Given the description of an element on the screen output the (x, y) to click on. 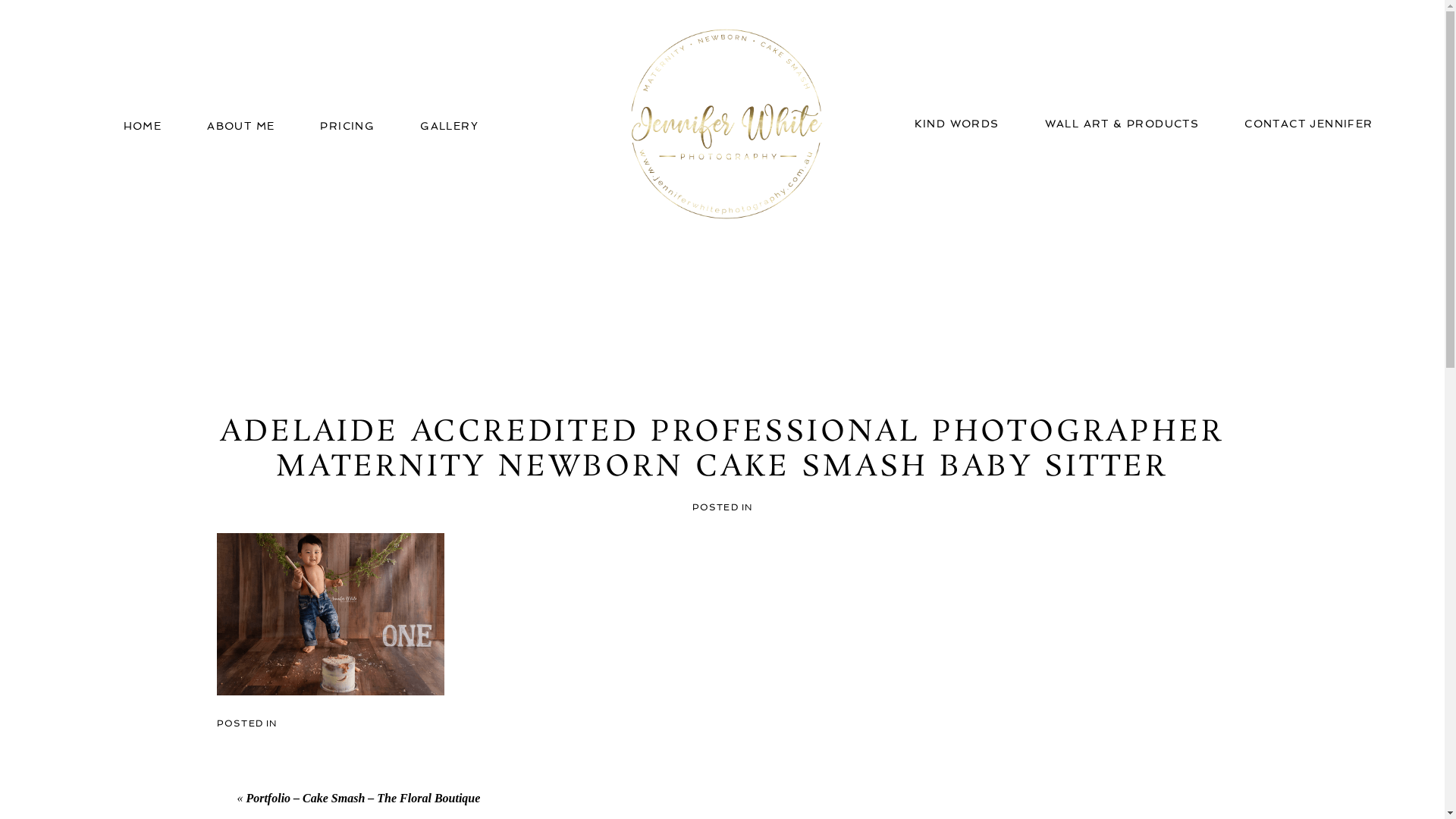
HOME Element type: text (142, 125)
PRICING Element type: text (347, 125)
KIND WORDS Element type: text (956, 123)
WALL ART & PRODUCTS Element type: text (1121, 123)
GALLERY Element type: text (449, 125)
CONTACT JENNIFER Element type: text (1308, 123)
ABOUT ME Element type: text (240, 125)
